Given the description of an element on the screen output the (x, y) to click on. 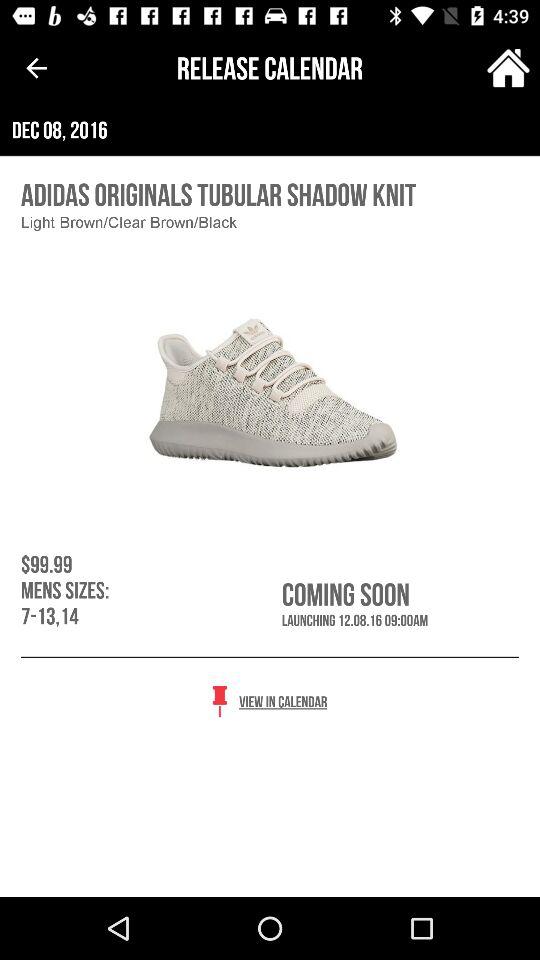
open icon to the left of the release calendar icon (36, 68)
